Given the description of an element on the screen output the (x, y) to click on. 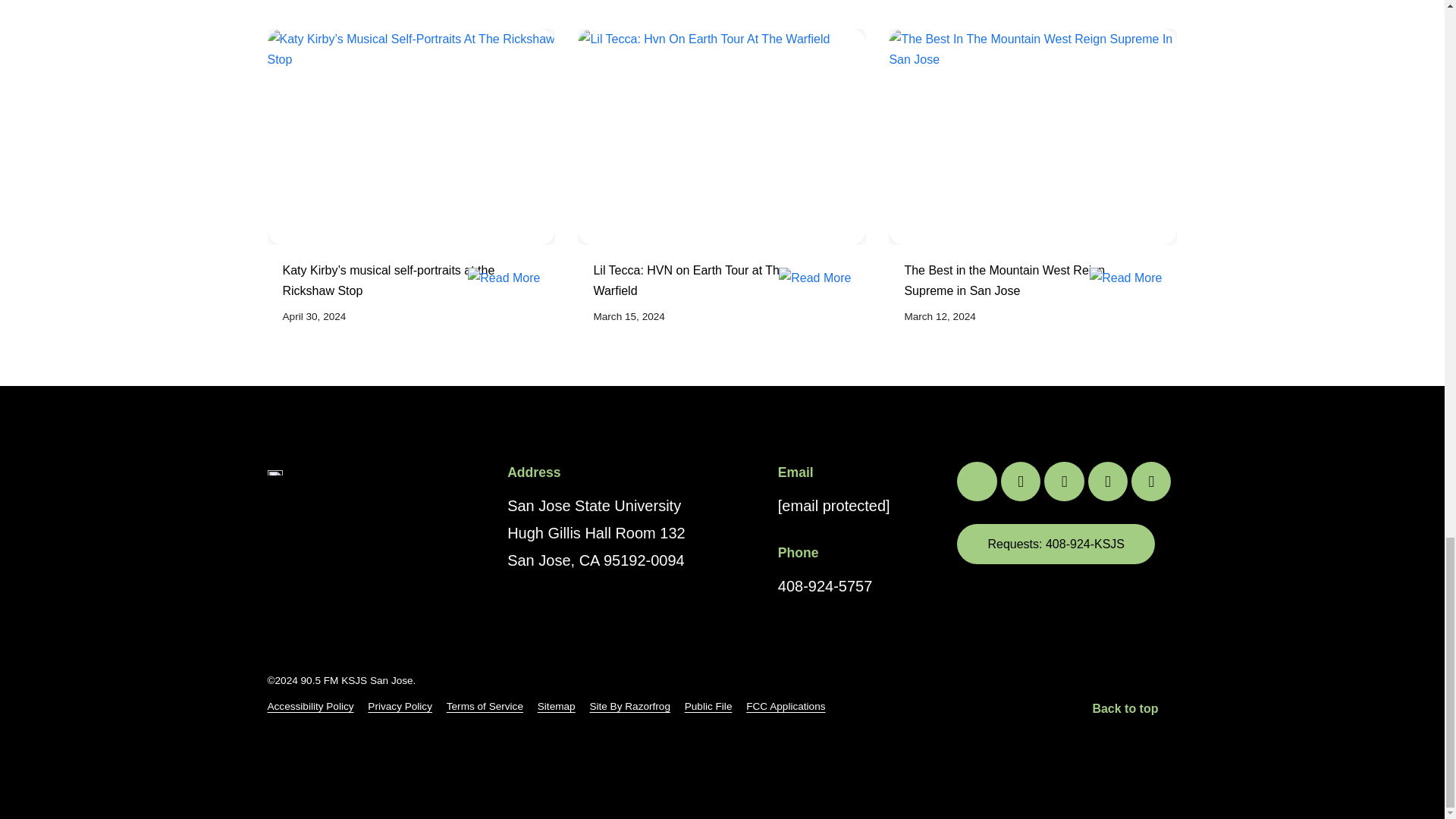
Instagram (1063, 481)
YouTube (1106, 481)
Facebook (1021, 481)
YouTube (1106, 481)
Lil Tecca: HVN on Earth Tour at The Warfield (713, 282)
The Best in the Mountain West Reign Supreme in San Jose (1025, 282)
Facebook (1021, 481)
Back to top (1134, 708)
Back to top (1124, 708)
Instagram (1063, 481)
Twitter (975, 481)
Twitter (975, 481)
408-924-5757 (824, 586)
Tiktok (1150, 481)
